Given the description of an element on the screen output the (x, y) to click on. 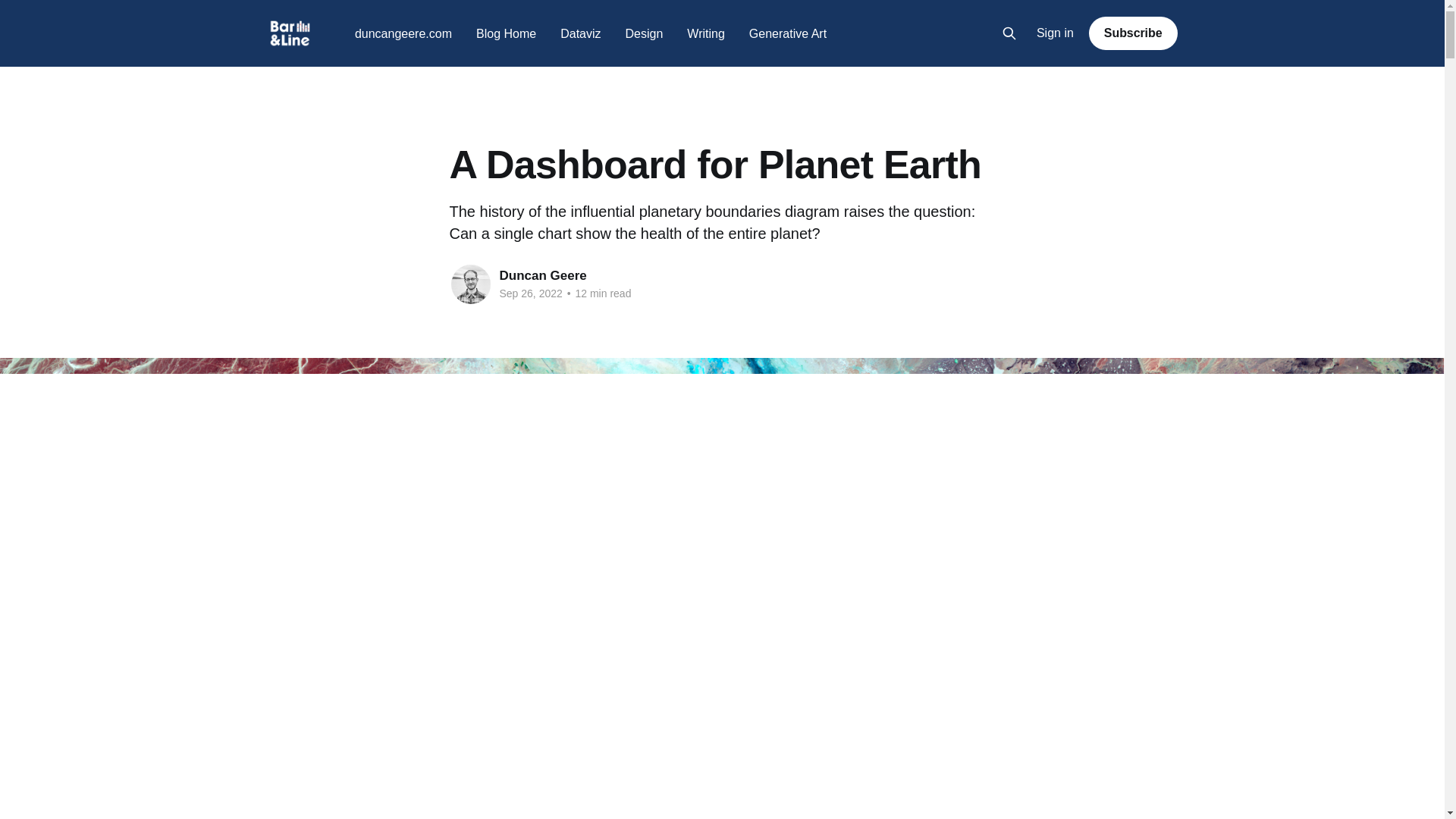
Sign in (1055, 33)
Dataviz (579, 33)
Duncan Geere (542, 275)
Generative Art (788, 33)
Subscribe (1133, 32)
duncangeere.com (403, 33)
Design (644, 33)
Blog Home (505, 33)
Writing (706, 33)
